Given the description of an element on the screen output the (x, y) to click on. 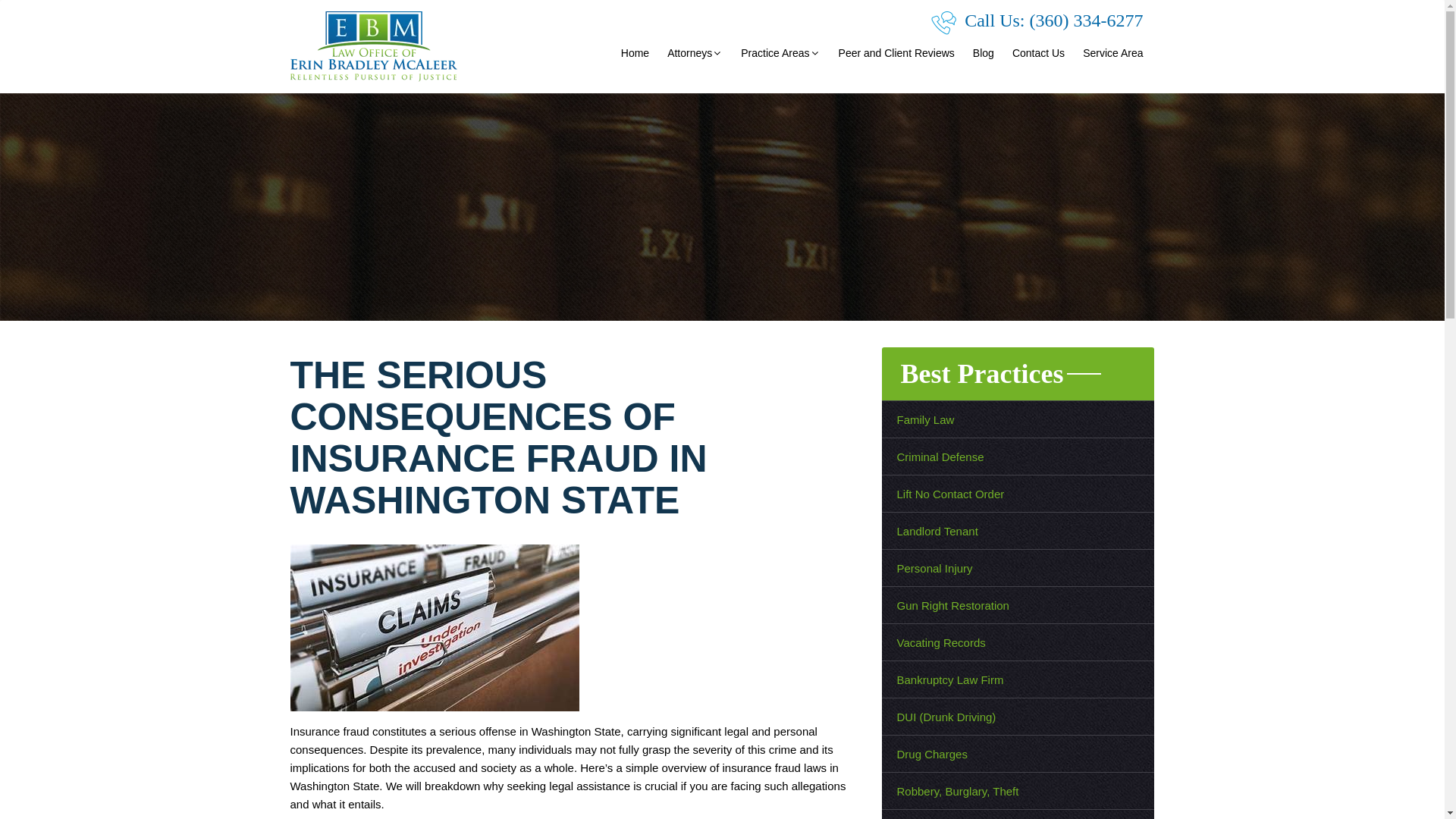
Attorneys (694, 53)
Home (635, 53)
Practice Areas (780, 53)
Logo (373, 46)
